Given the description of an element on the screen output the (x, y) to click on. 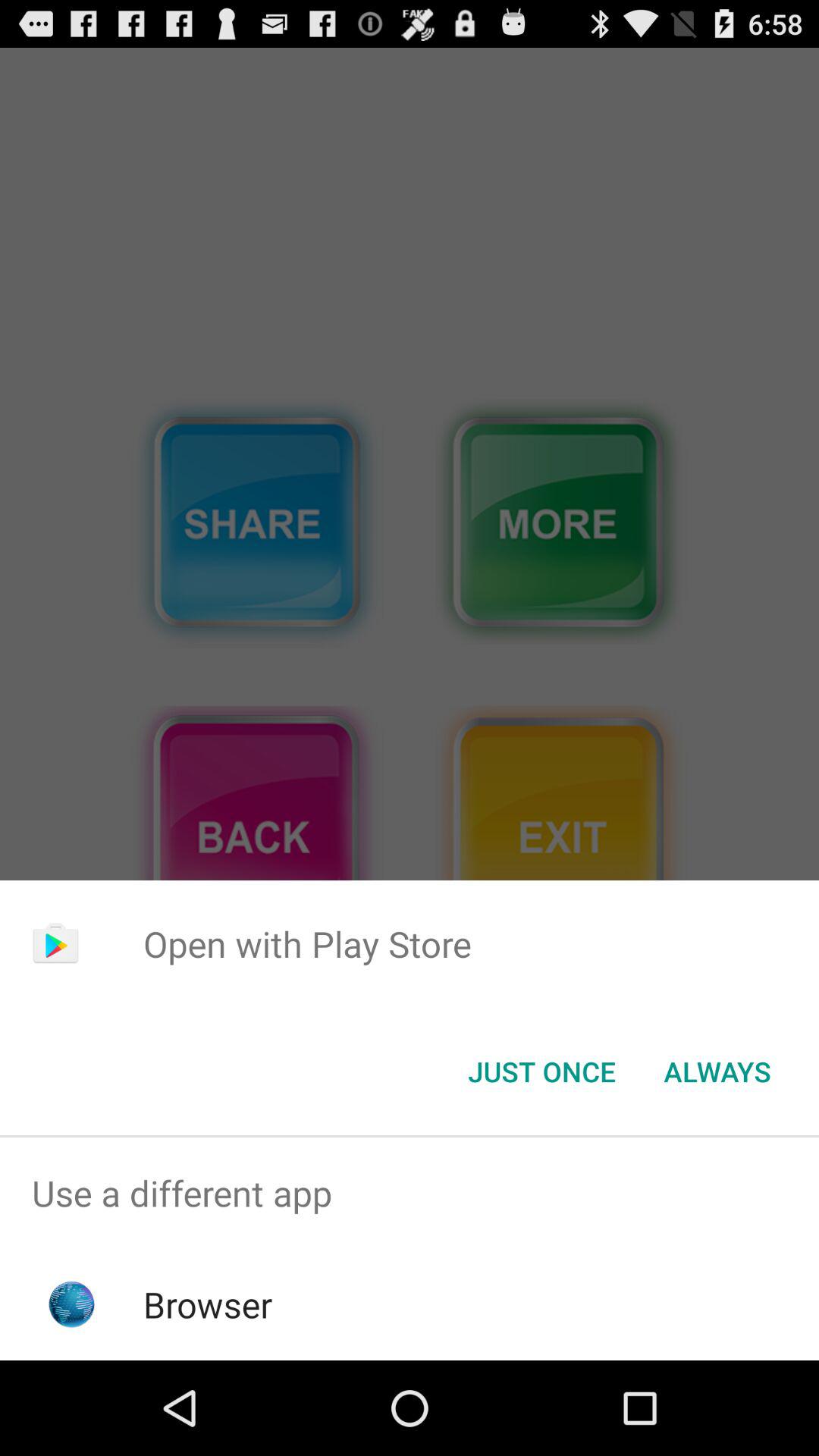
turn off icon below the use a different icon (207, 1304)
